Given the description of an element on the screen output the (x, y) to click on. 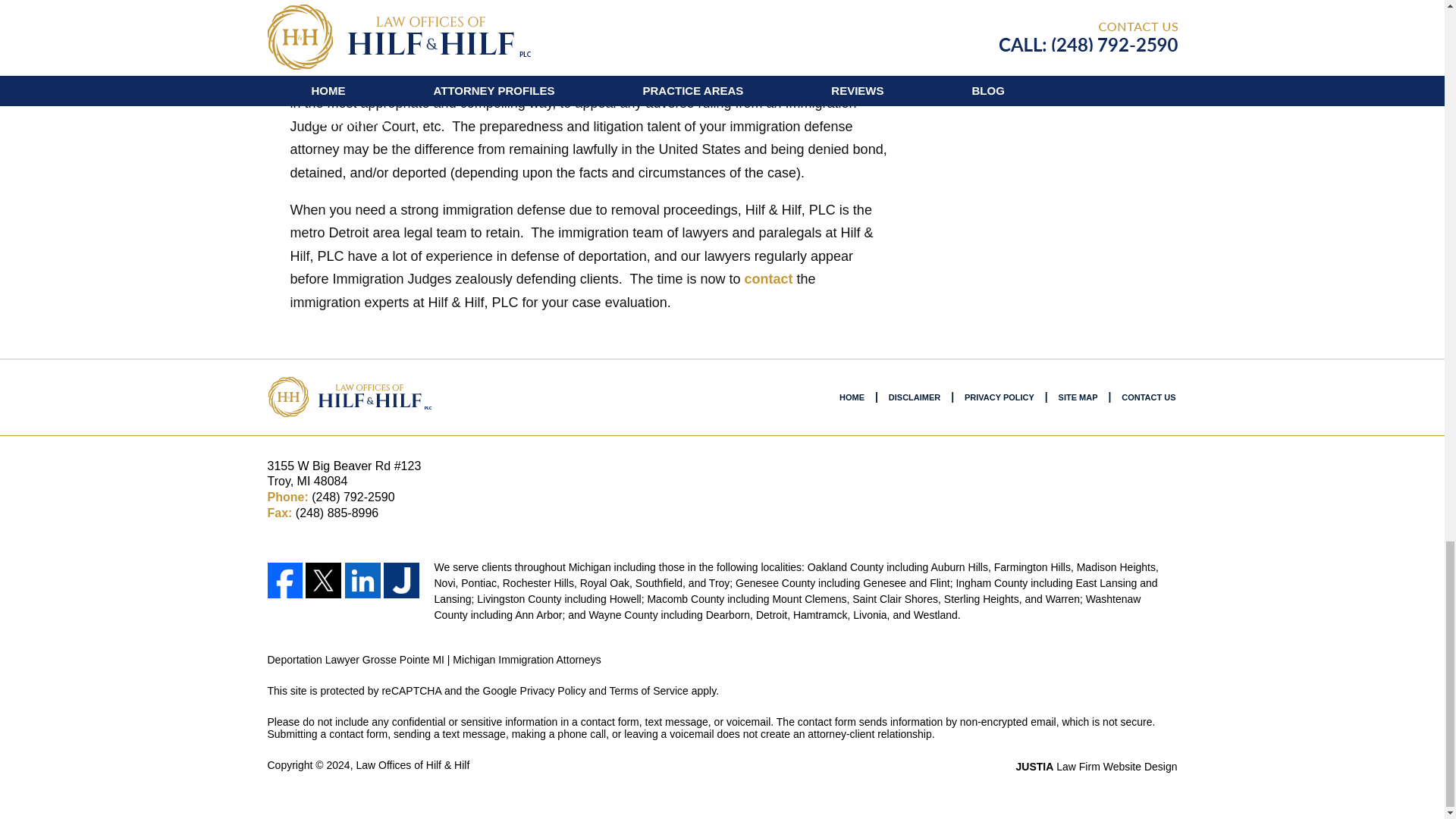
SITE MAP (1078, 397)
PRIVACY POLICY (999, 397)
Twitter (323, 580)
HOME (851, 397)
CONTACT US (1147, 397)
Terms of Service (649, 690)
LinkedIn (361, 580)
DISCLAIMER (913, 397)
Justia (401, 580)
JUSTIA Law Firm Website Design (1096, 766)
contact (768, 278)
Privacy Policy (552, 690)
Facebook (284, 580)
